Given the description of an element on the screen output the (x, y) to click on. 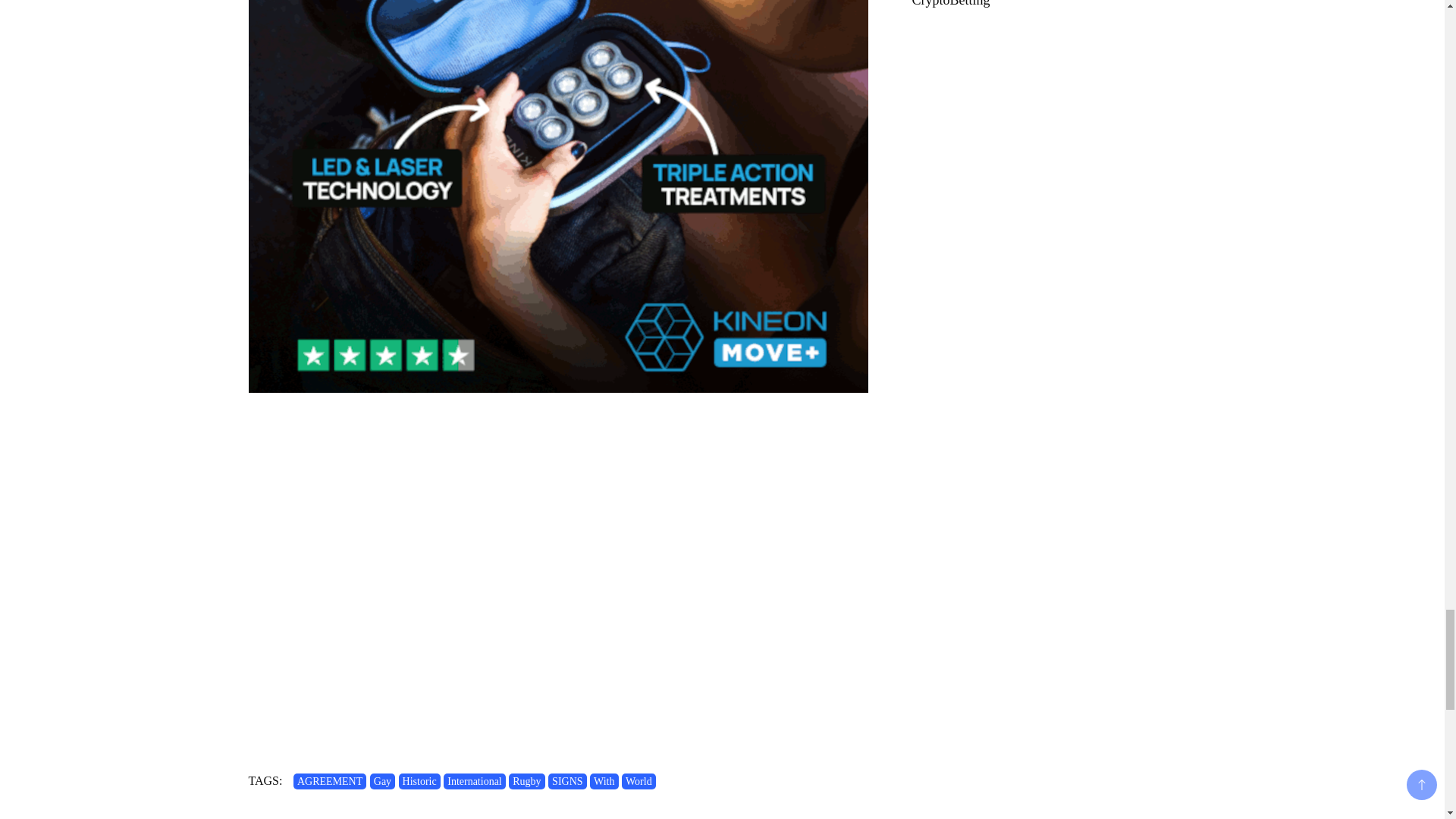
Historic (419, 781)
AGREEMENT (330, 781)
Gay (381, 781)
